Given the description of an element on the screen output the (x, y) to click on. 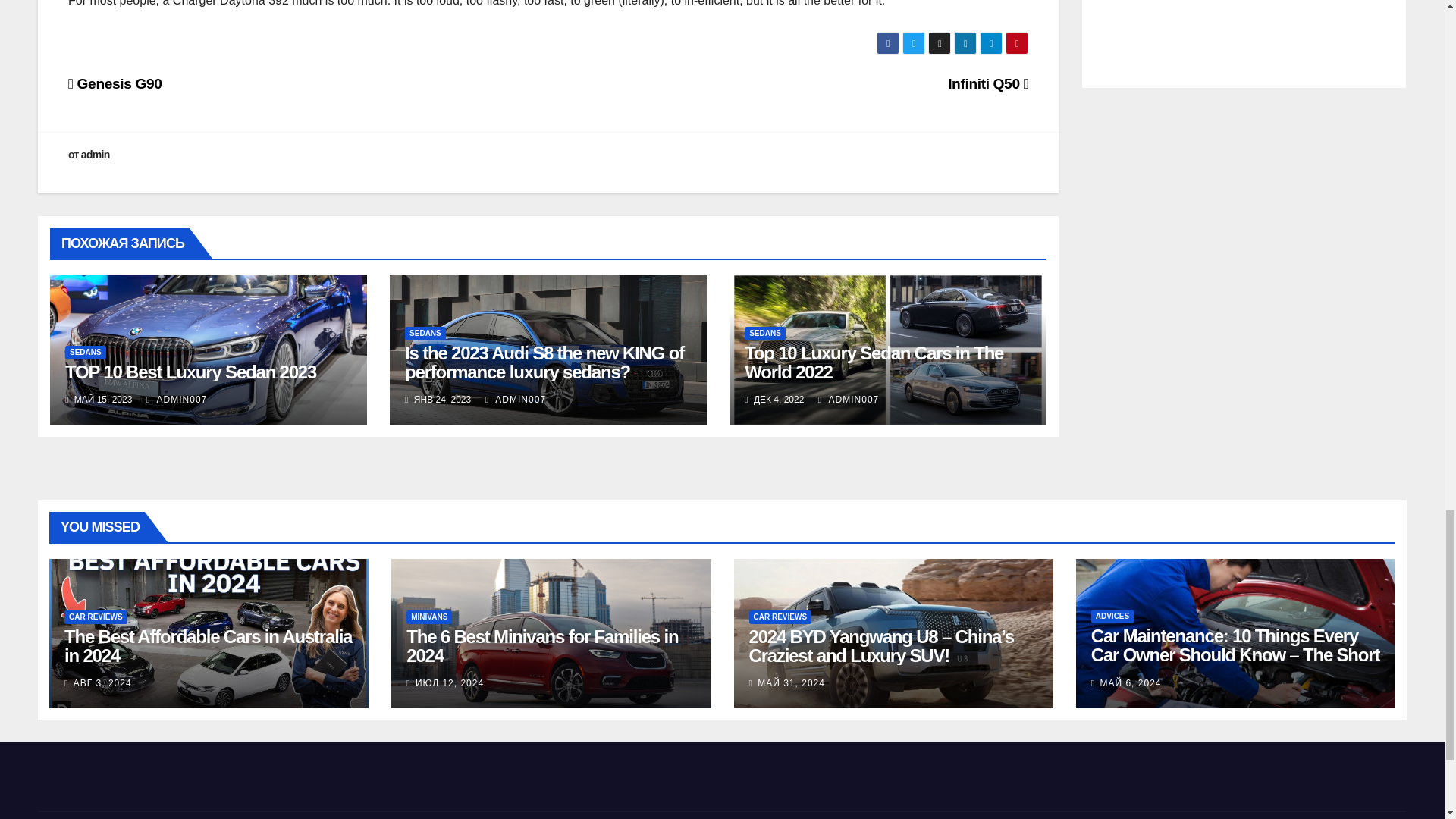
TOP 10 Best Luxury Sedan 2023 (190, 371)
SEDANS (765, 333)
Permalink to: Top 10 Luxury Sedan Cars in The World 2022 (873, 362)
ADMIN007 (176, 398)
Infiniti Q50 (987, 83)
Top 10 Luxury Sedan Cars in The World 2022 (873, 362)
Advertisement (1243, 40)
ADMIN007 (515, 398)
Permalink to: The Best Affordable Cars in Australia in 2024 (208, 645)
